Given the description of an element on the screen output the (x, y) to click on. 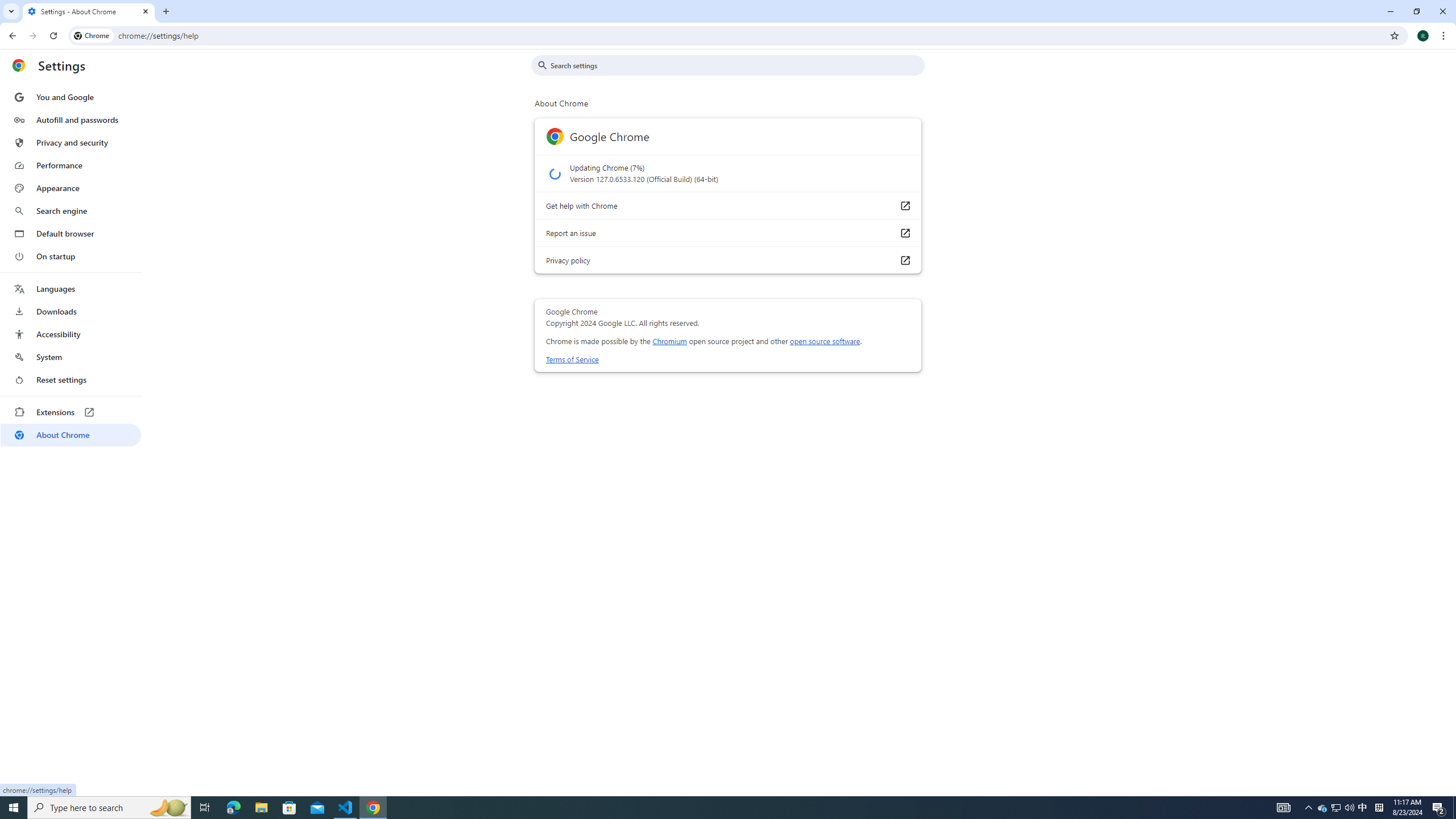
open source software (824, 340)
Search settings (735, 65)
Performance (70, 164)
About Chrome (70, 434)
Report an issue (904, 232)
